Given the description of an element on the screen output the (x, y) to click on. 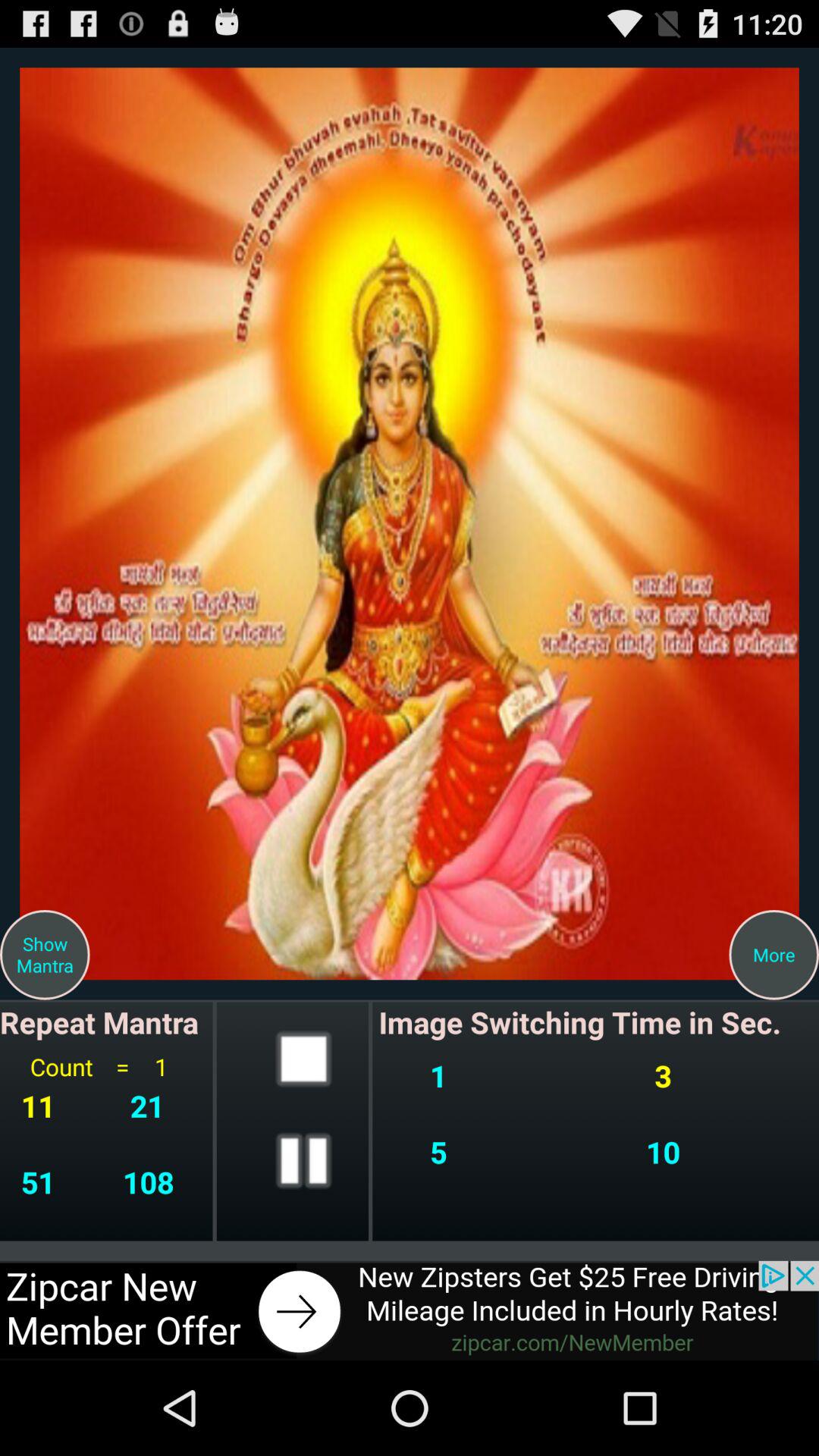
advertisement banner (409, 1310)
